Given the description of an element on the screen output the (x, y) to click on. 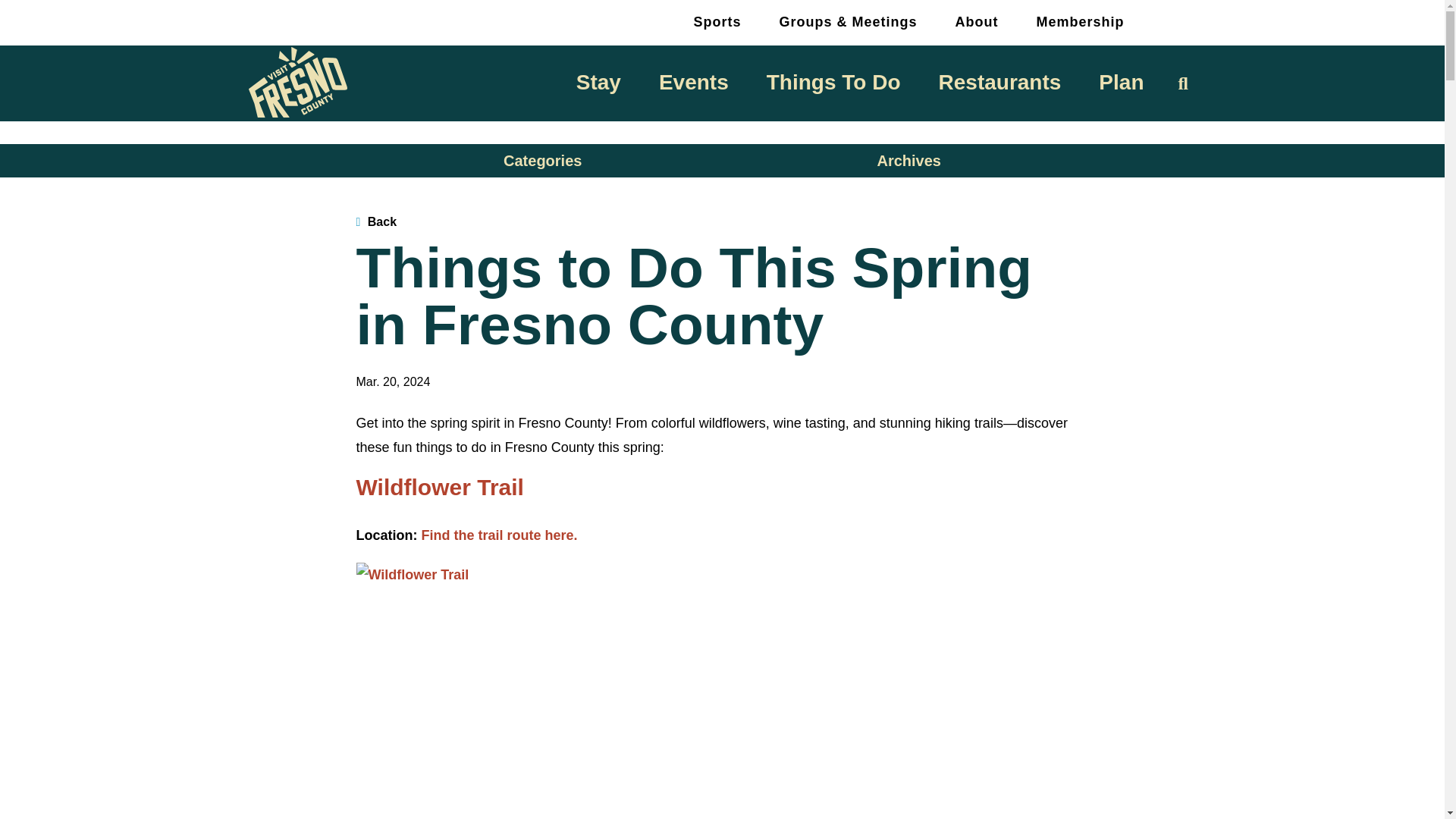
Sports (717, 20)
Sports (717, 20)
About (976, 20)
About (976, 20)
Membership (1079, 20)
